Given the description of an element on the screen output the (x, y) to click on. 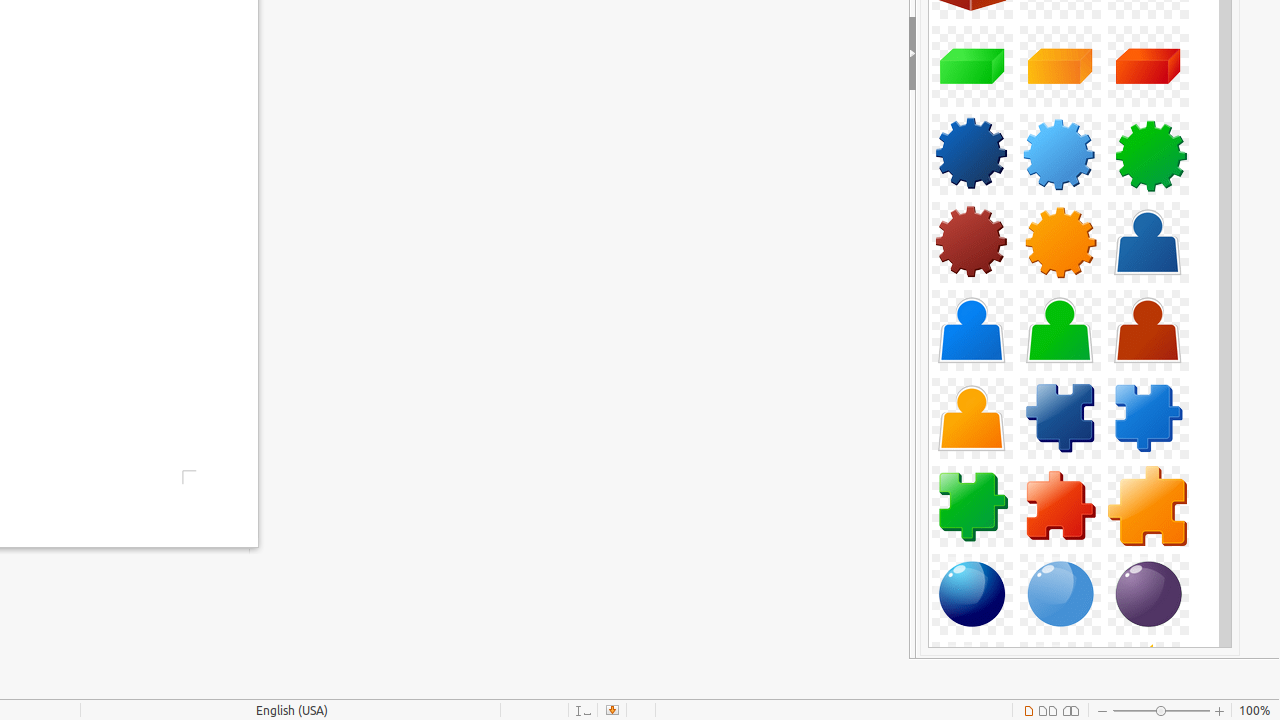
Component-Sphere02-LightBlue Element type: list-item (1060, 594)
Component-Gear03-Green Element type: list-item (1148, 154)
Component-Sphere03-Green Element type: list-item (1148, 594)
Component-Gear02-LightBlue Element type: list-item (1060, 154)
Component-PuzzlePiece05-Orange Element type: list-item (1148, 506)
